Given the description of an element on the screen output the (x, y) to click on. 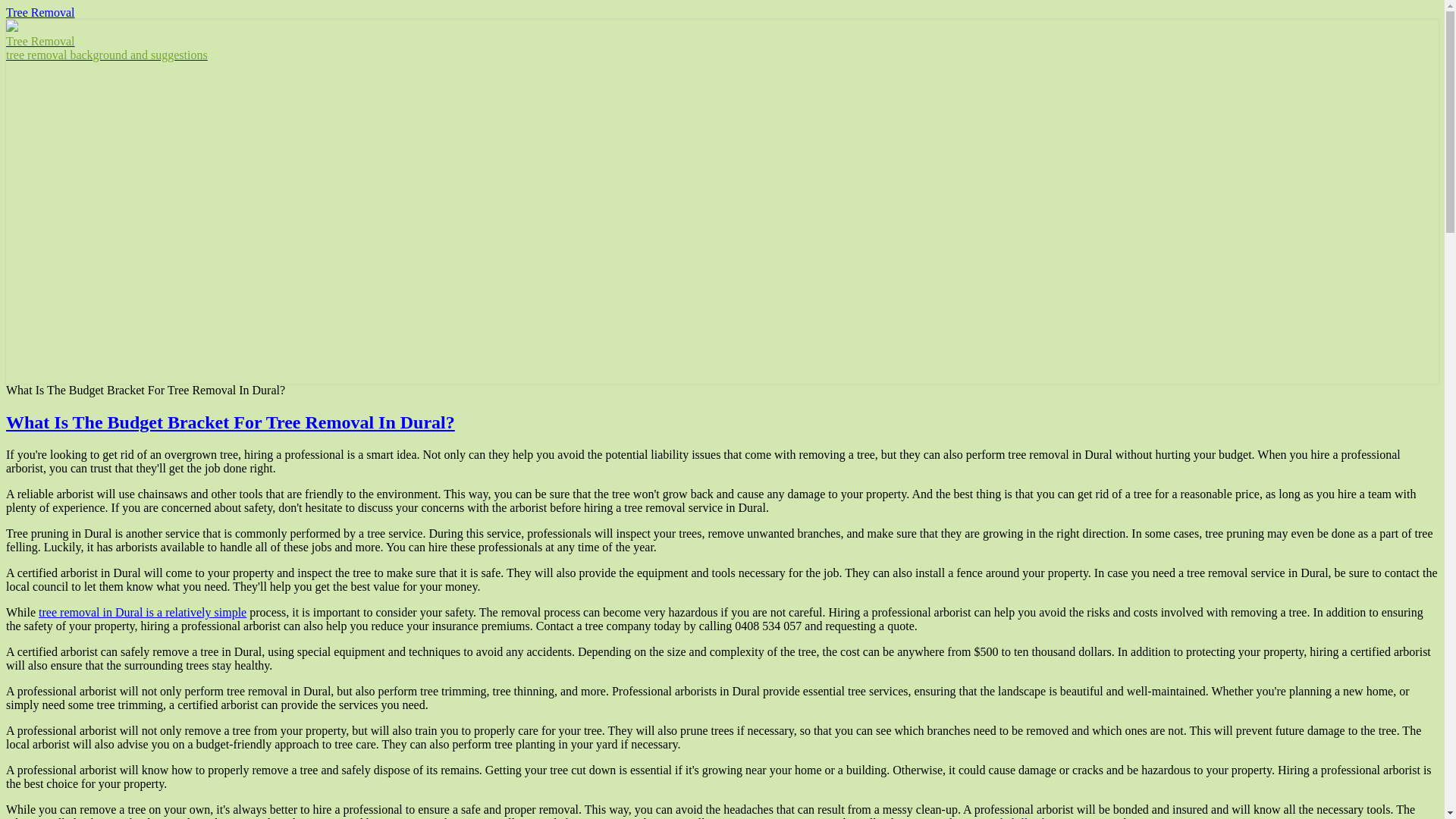
Tree Removal (40, 11)
What Is The Budget Bracket For Tree Removal In Dural? (229, 422)
tree removal in Dural is a relatively simple (142, 612)
thehillsarborist.com.au (1051, 817)
